Given the description of an element on the screen output the (x, y) to click on. 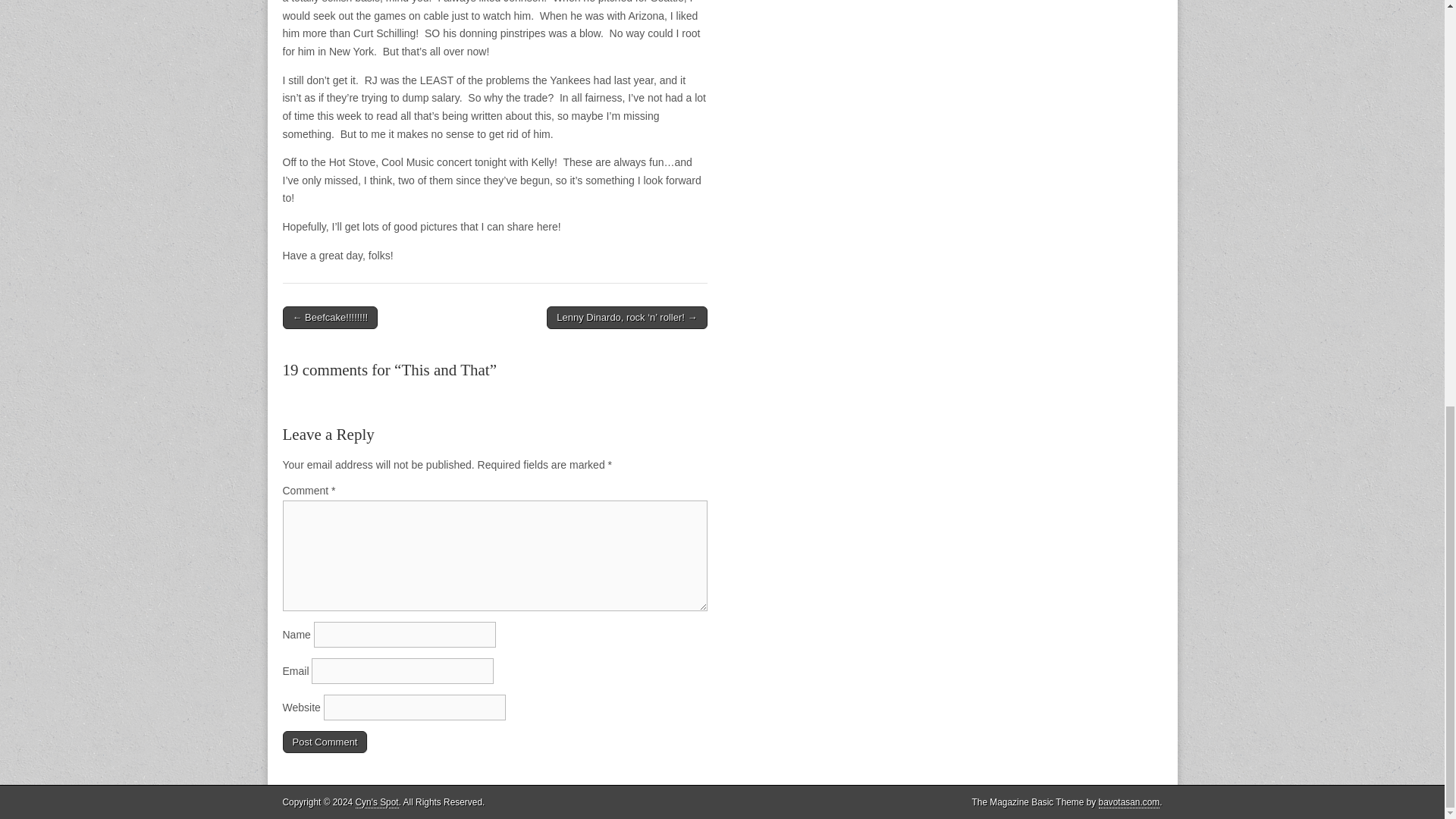
bavotasan.com (1129, 802)
Post Comment (324, 742)
Cyn's Spot (376, 802)
Post Comment (324, 742)
